Given the description of an element on the screen output the (x, y) to click on. 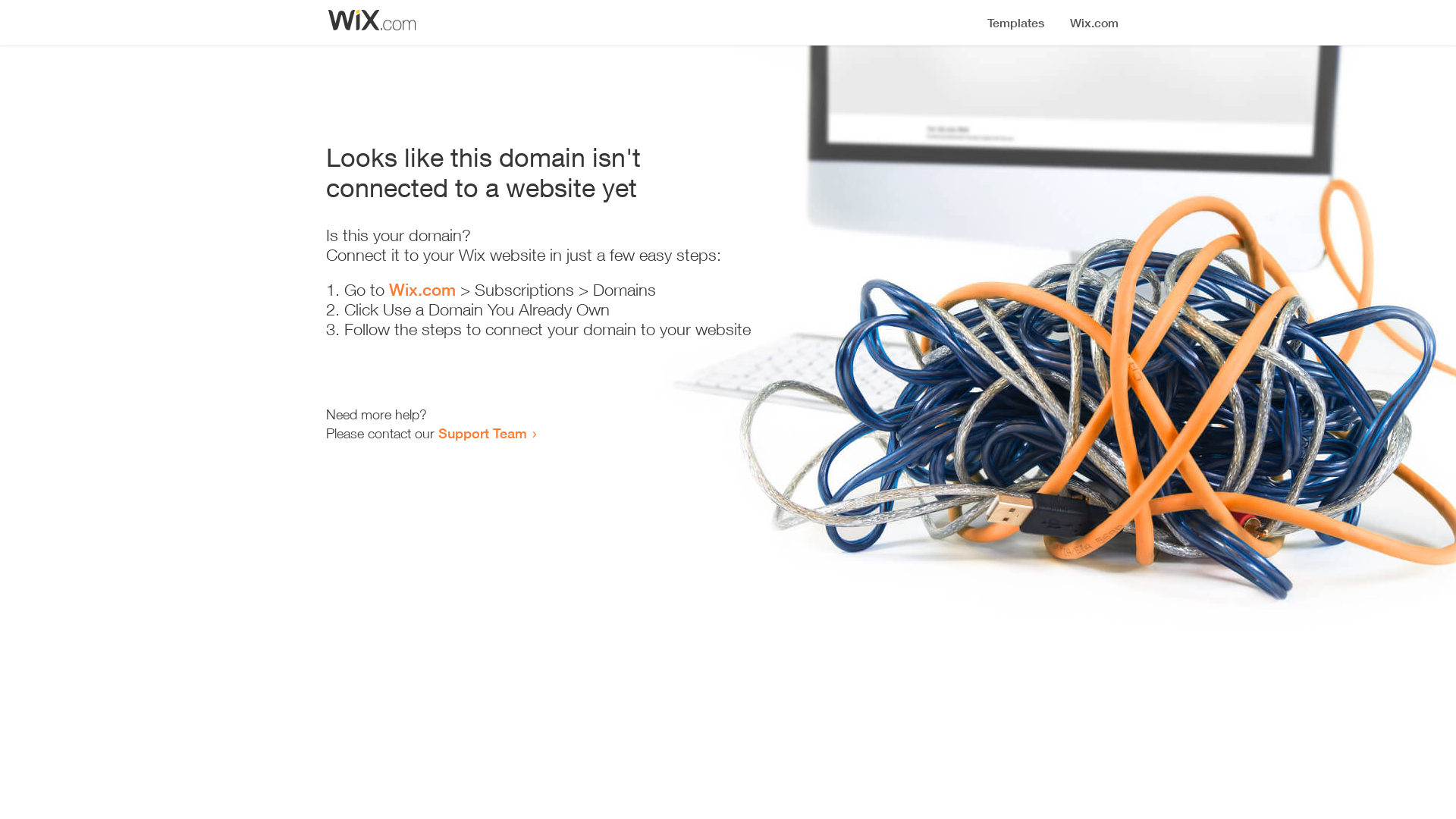
Wix.com Element type: text (422, 289)
Support Team Element type: text (482, 432)
